Given the description of an element on the screen output the (x, y) to click on. 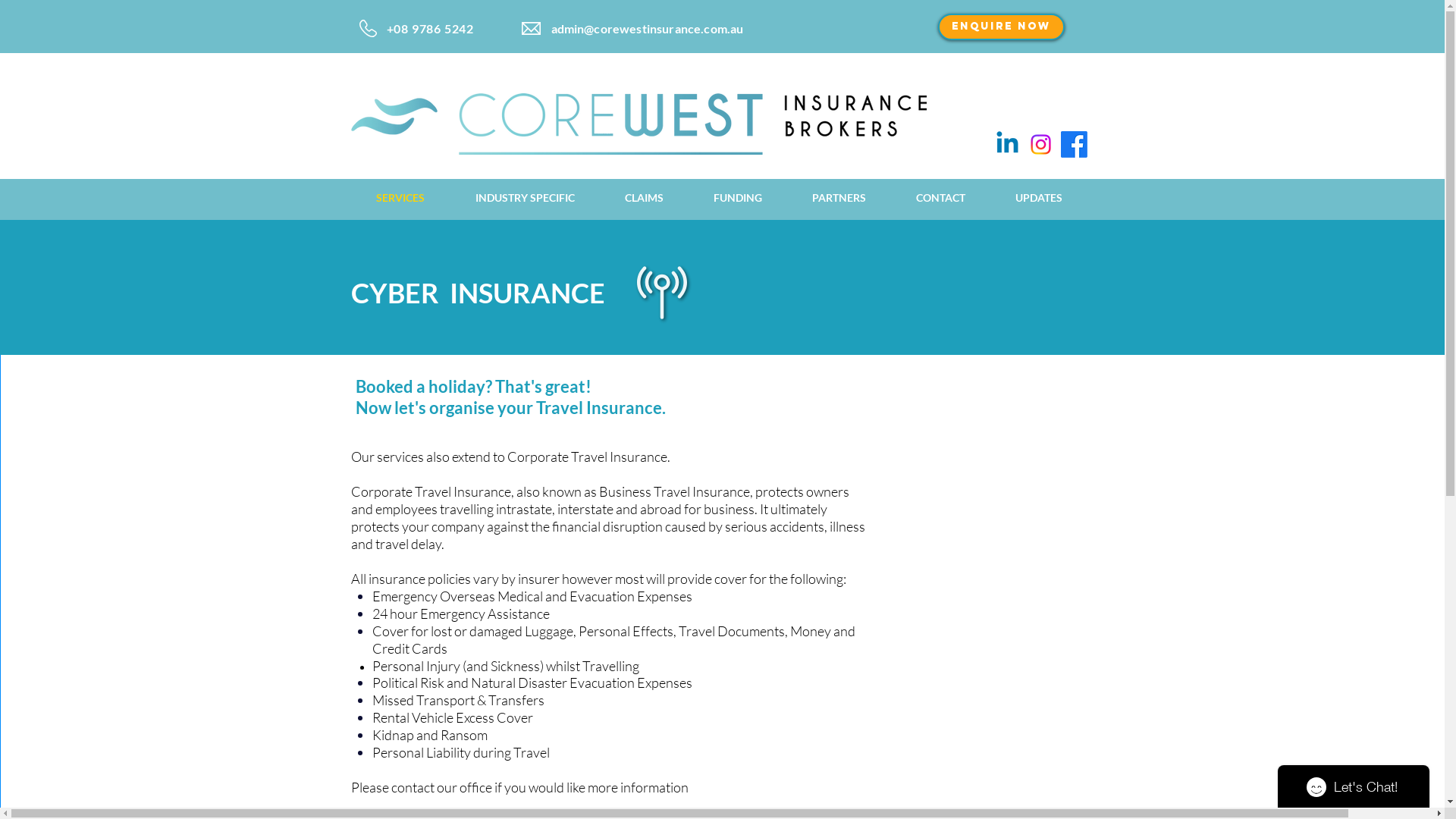
Wix Chat Element type: hover (1357, 782)
CLAIMS Element type: text (643, 197)
ENQUIRE NOW Element type: text (1000, 26)
FUNDING Element type: text (737, 197)
UPDATES Element type: text (1038, 197)
admin@corewestinsurance.com.au Element type: text (646, 28)
INDUSTRY SPECIFIC Element type: text (524, 197)
CONTACT Element type: text (939, 197)
PARTNERS Element type: text (839, 197)
SERVICES Element type: text (399, 197)
